Given the description of an element on the screen output the (x, y) to click on. 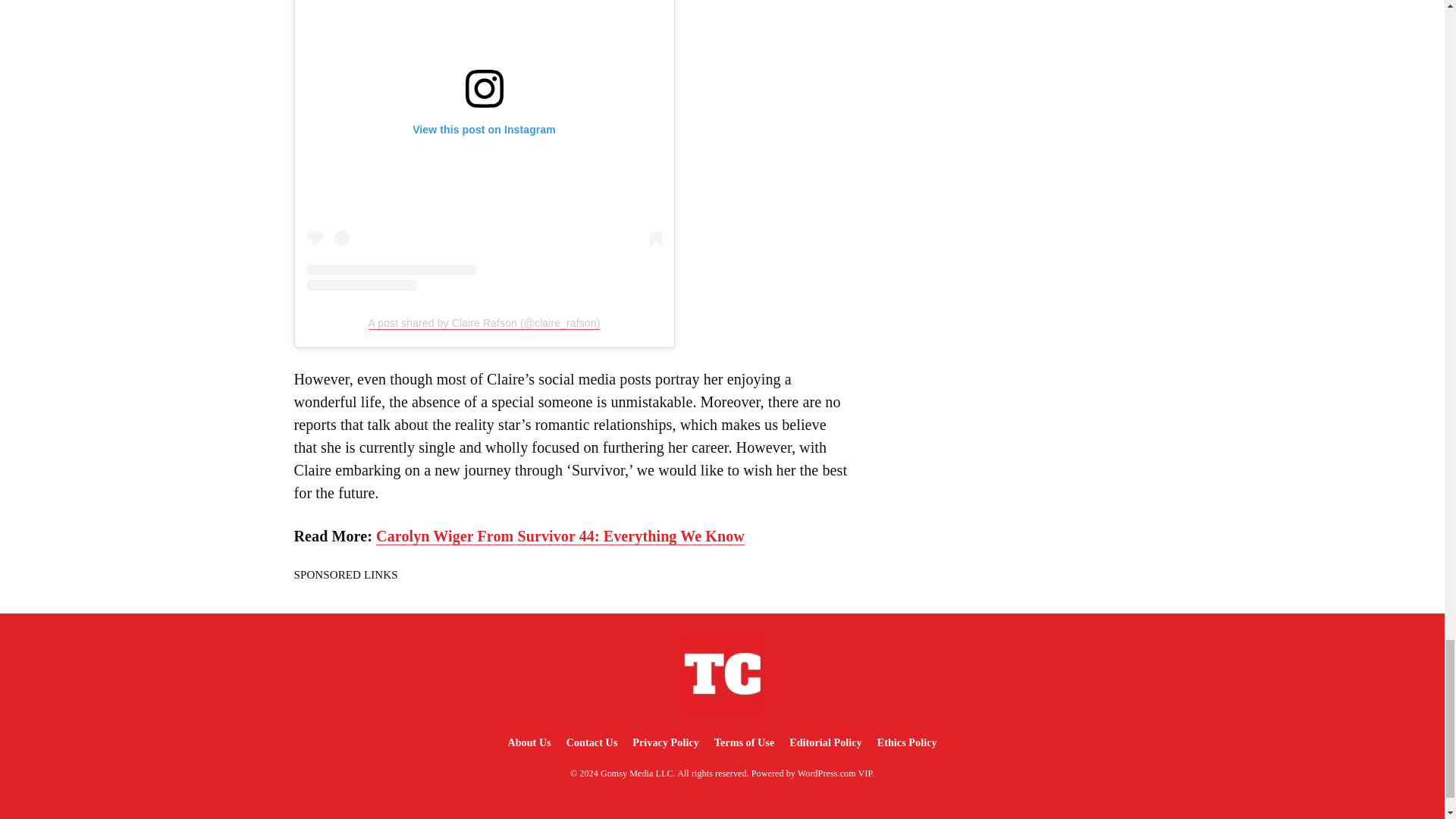
Terms of Use (743, 742)
Privacy Policy (665, 742)
About Us (528, 742)
Carolyn Wiger From Survivor 44: Everything We Know (559, 536)
View this post on Instagram (483, 144)
Editorial Policy (825, 742)
Contact Us (592, 742)
Ethics Policy (906, 742)
WordPress.com VIP (834, 773)
